Given the description of an element on the screen output the (x, y) to click on. 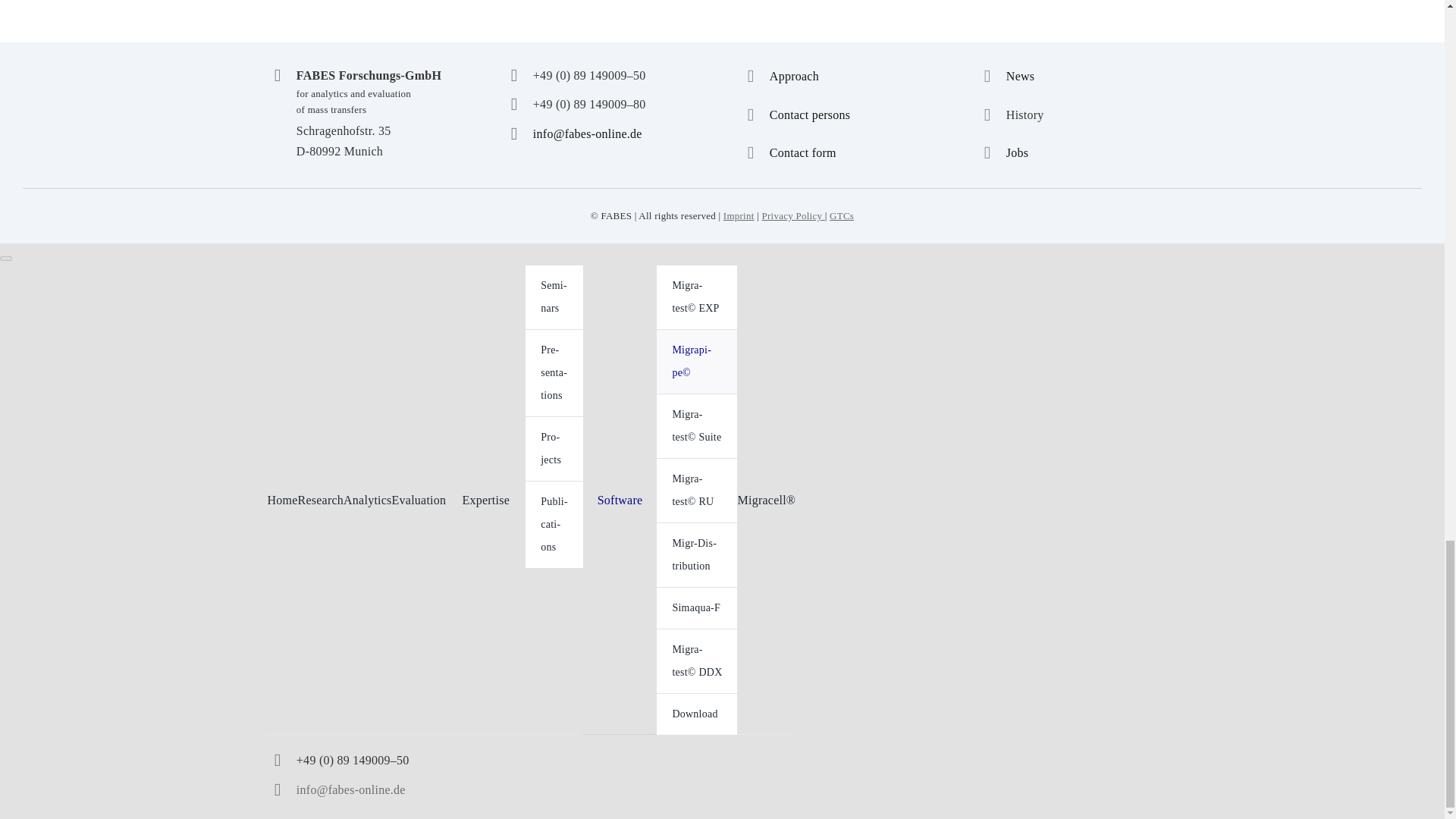
Jobs (1016, 152)
Approach (794, 75)
News (1019, 75)
